Given the description of an element on the screen output the (x, y) to click on. 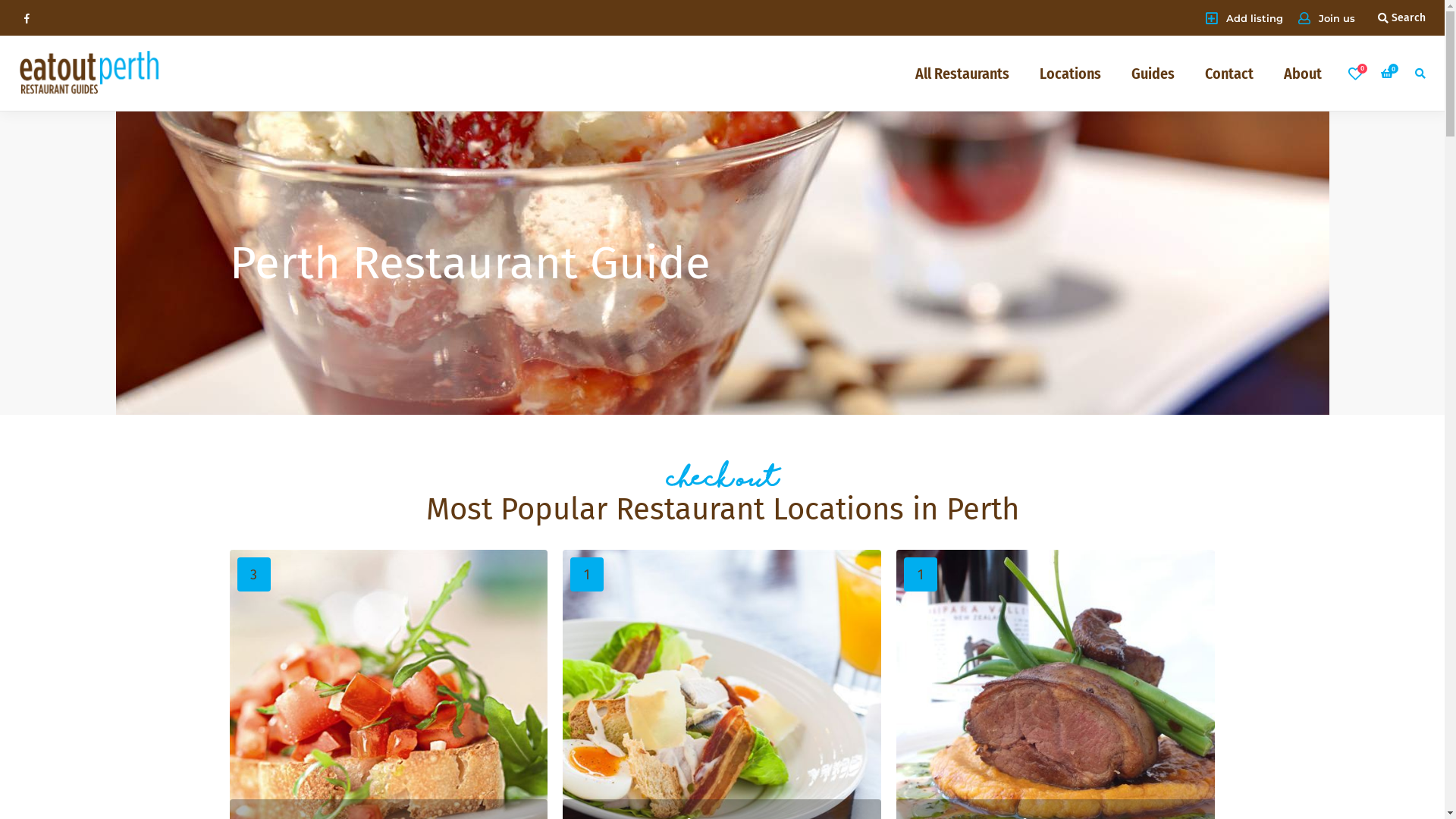
Add listing Element type: text (1244, 17)
Locations Element type: text (1070, 72)
Search Element type: text (1401, 17)
All Restaurants Element type: text (962, 72)
0 Element type: text (1354, 72)
About Element type: text (1302, 72)
Join us Element type: text (1326, 18)
Guides Element type: text (1152, 72)
0 Element type: text (1388, 72)
Contact Element type: text (1228, 72)
